Given the description of an element on the screen output the (x, y) to click on. 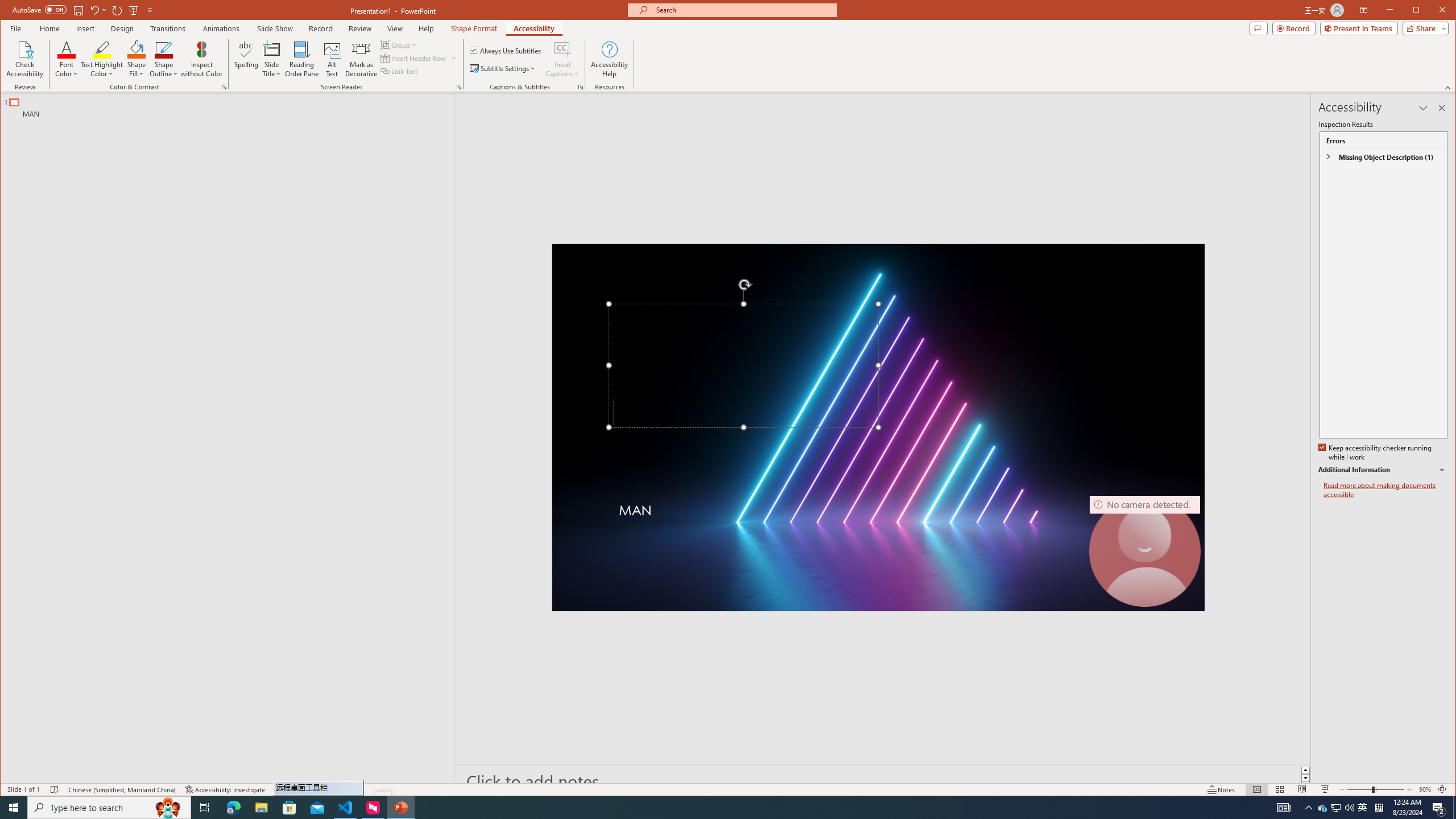
Action Center, 2 new notifications (1439, 807)
Subtitle TextBox (850, 522)
